Given the description of an element on the screen output the (x, y) to click on. 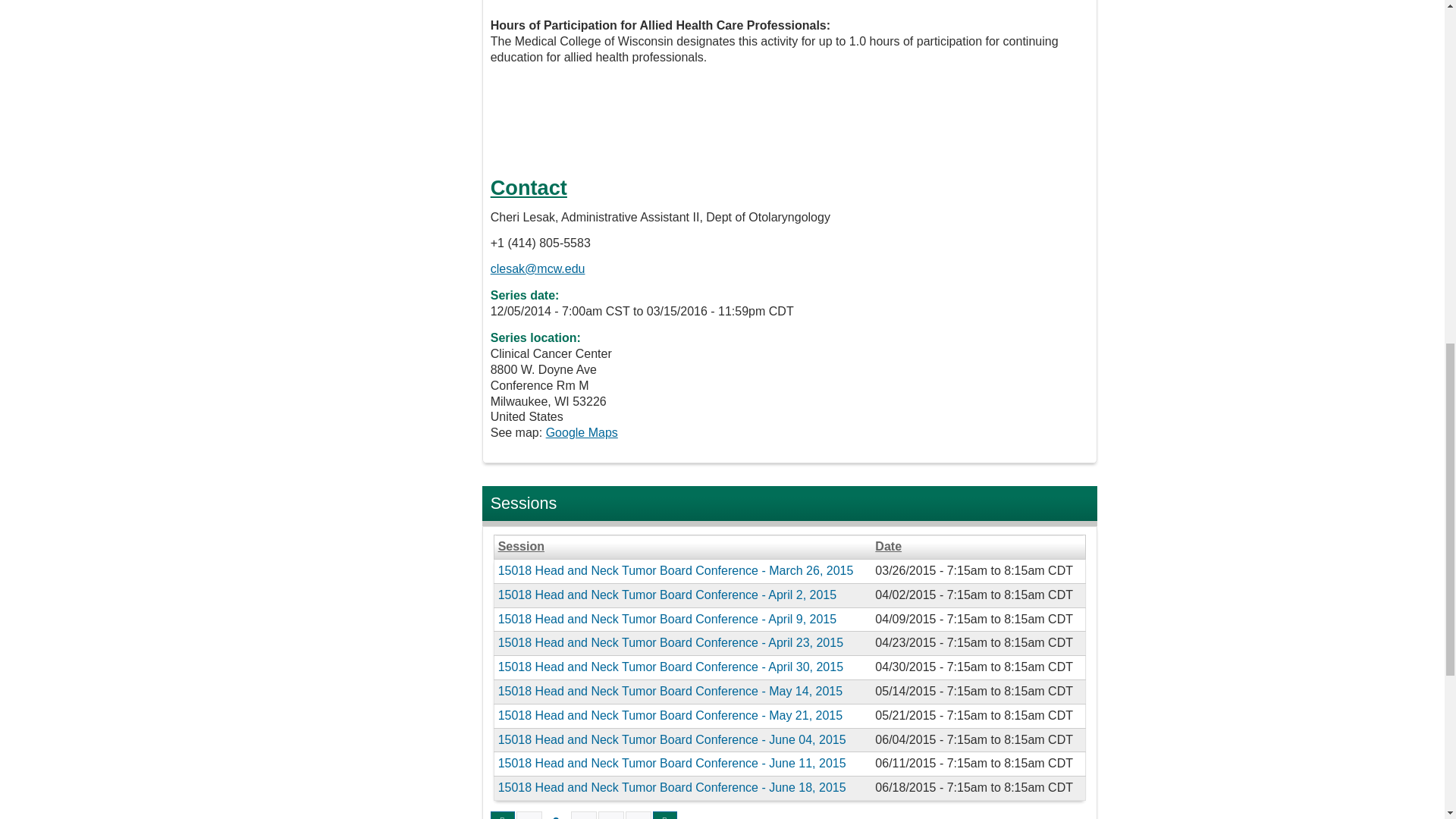
Go to page 1 (528, 815)
sort by Session (682, 546)
Session (682, 546)
Date (977, 546)
Go to page 3 (583, 815)
Go to page 5 (638, 815)
sort by Date (977, 546)
Go to page 4 (611, 815)
15018 Head and Neck Tumor Board Conference - April 23, 2015 (670, 642)
Google Maps (581, 431)
Contact (528, 187)
15018 Head and Neck Tumor Board Conference - April 9, 2015 (667, 618)
Go to previous page (502, 815)
15018 Head and Neck Tumor Board Conference - April 2, 2015 (667, 594)
15018 Head and Neck Tumor Board Conference - March 26, 2015 (675, 570)
